Given the description of an element on the screen output the (x, y) to click on. 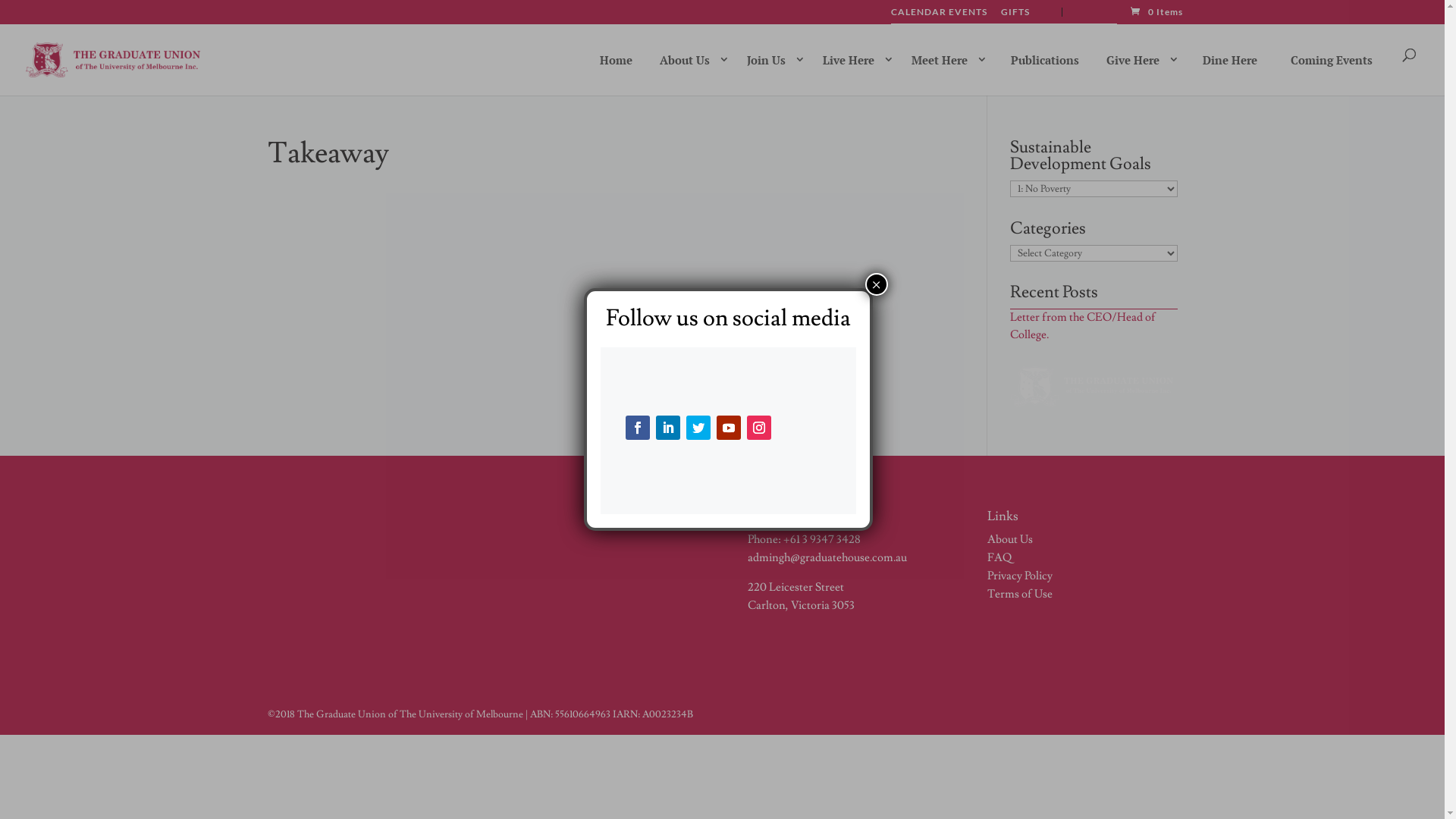
Publications Element type: text (1044, 59)
GIFTS Element type: text (1015, 15)
Privacy Policy Element type: text (1019, 575)
Meet Here Element type: text (945, 59)
Join Us Element type: text (771, 59)
Coming Events Element type: text (1331, 59)
Home Element type: text (615, 59)
Follow on Twitter Element type: hover (698, 427)
0 Items Element type: text (1155, 11)
Give Here Element type: text (1138, 59)
Letter from the CEO/Head of College. Element type: text (1082, 326)
Dine Here Element type: text (1229, 59)
Follow on Facebook Element type: hover (637, 427)
Follow on LinkedIn Element type: hover (667, 427)
FAQ Element type: text (999, 557)
Follow on Instagram Element type: hover (758, 427)
Live Here Element type: text (854, 59)
Follow on Youtube Element type: hover (728, 427)
CALENDAR EVENTS Element type: text (939, 15)
About Us Element type: text (690, 59)
Terms of Use Element type: text (1019, 593)
About Us Element type: text (1009, 539)
